Given the description of an element on the screen output the (x, y) to click on. 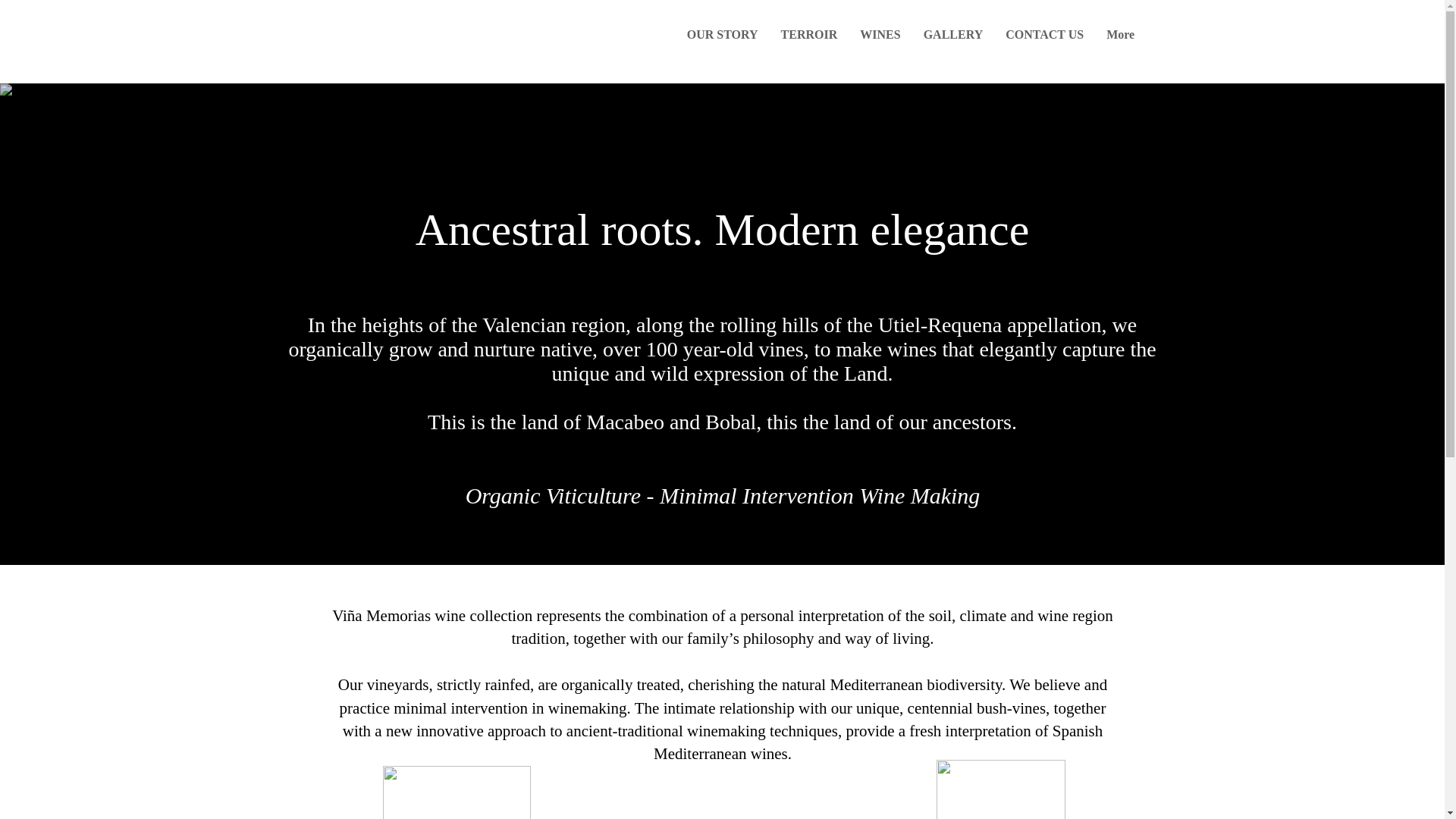
ALKUNYA ILUSTRACION.png (1000, 789)
MAGUS DUOPOLE ILUSTRACION.png (455, 792)
WINES (879, 41)
CONTACT US (1044, 41)
GALLERY (953, 41)
TERROIR (809, 41)
OUR STORY (722, 41)
